Given the description of an element on the screen output the (x, y) to click on. 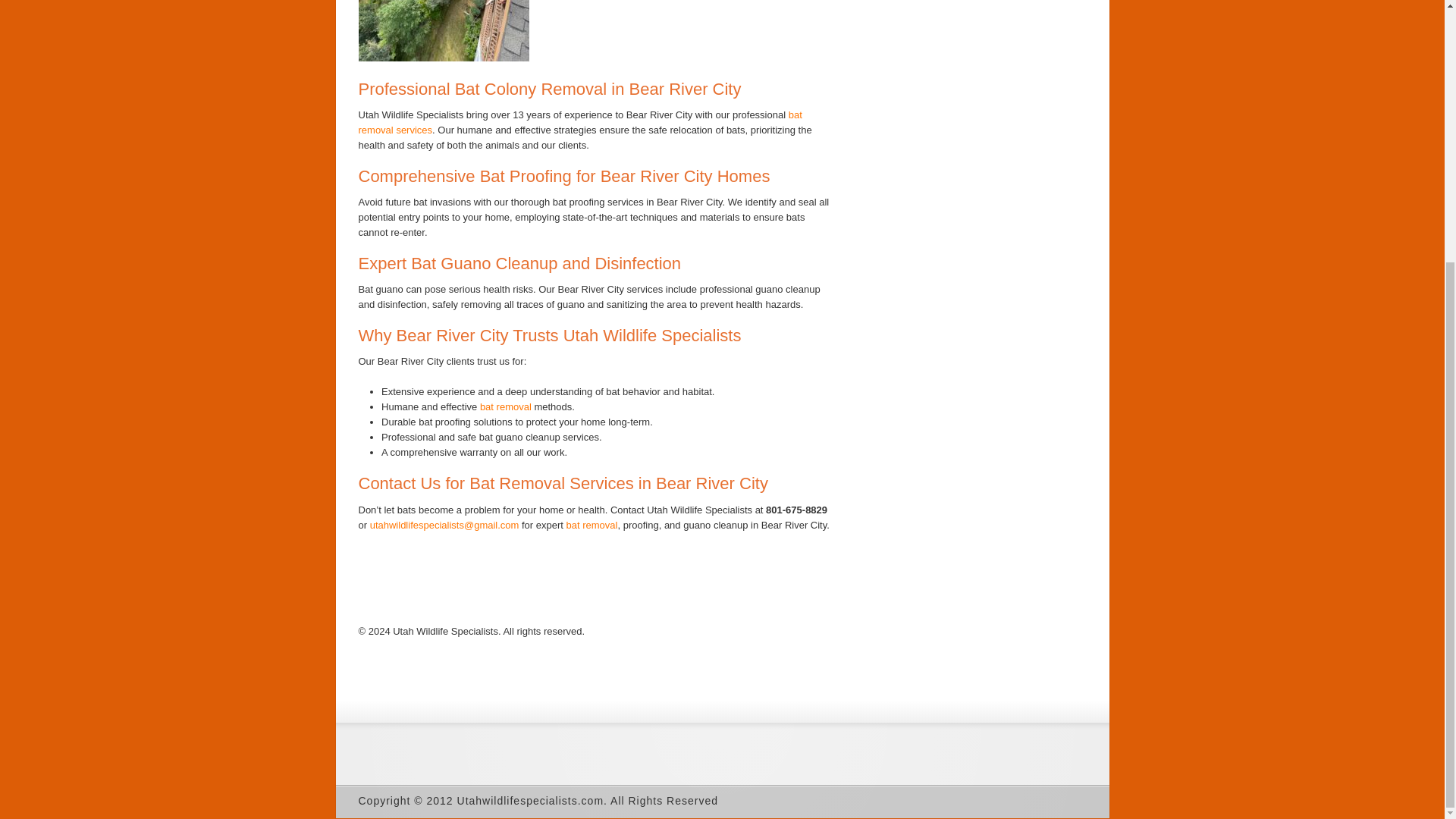
services (414, 129)
bat removal (580, 121)
services (414, 129)
bat removal (505, 406)
bat removal (591, 524)
bat removal (580, 121)
